Given the description of an element on the screen output the (x, y) to click on. 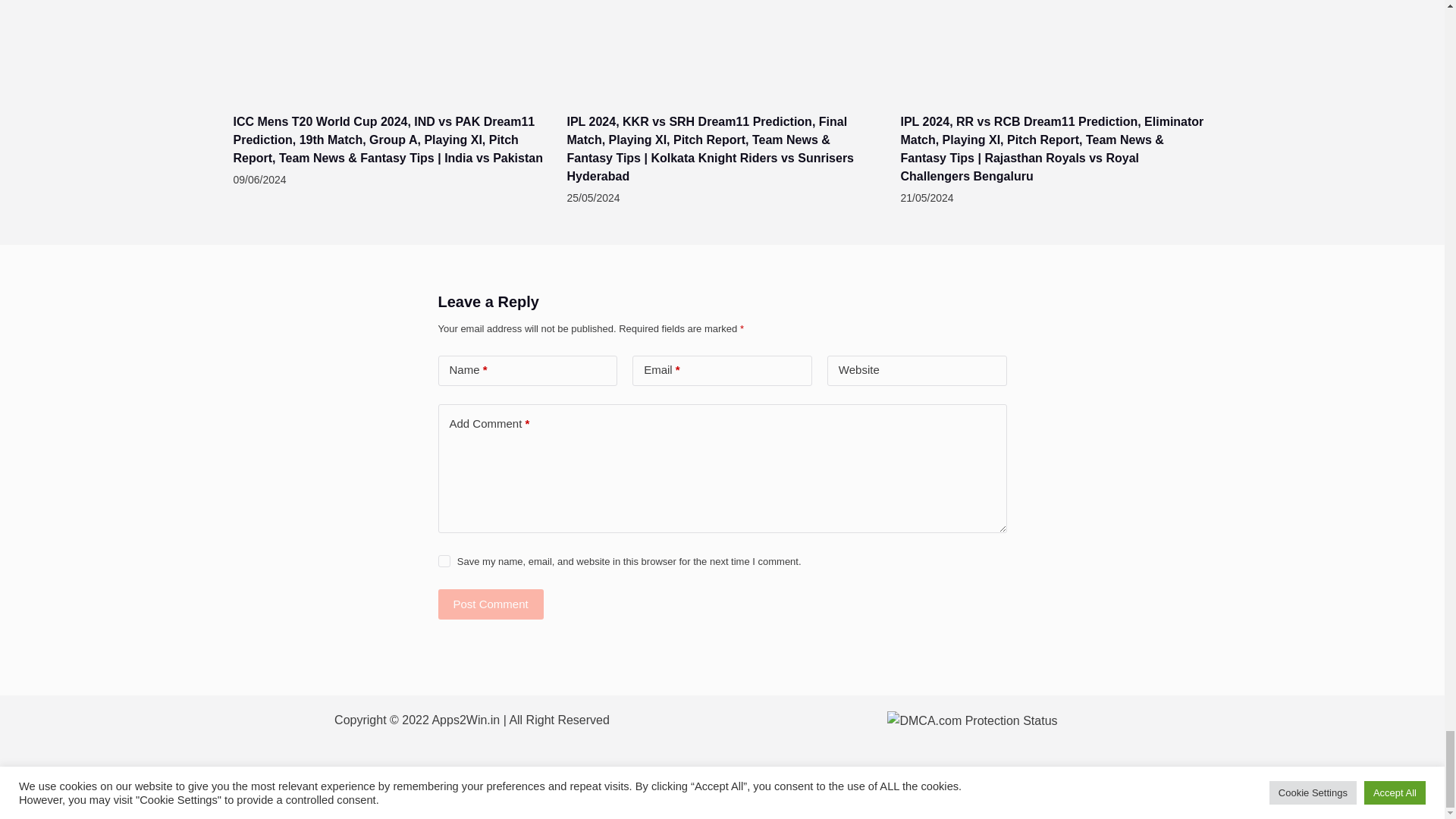
yes (443, 561)
